Given the description of an element on the screen output the (x, y) to click on. 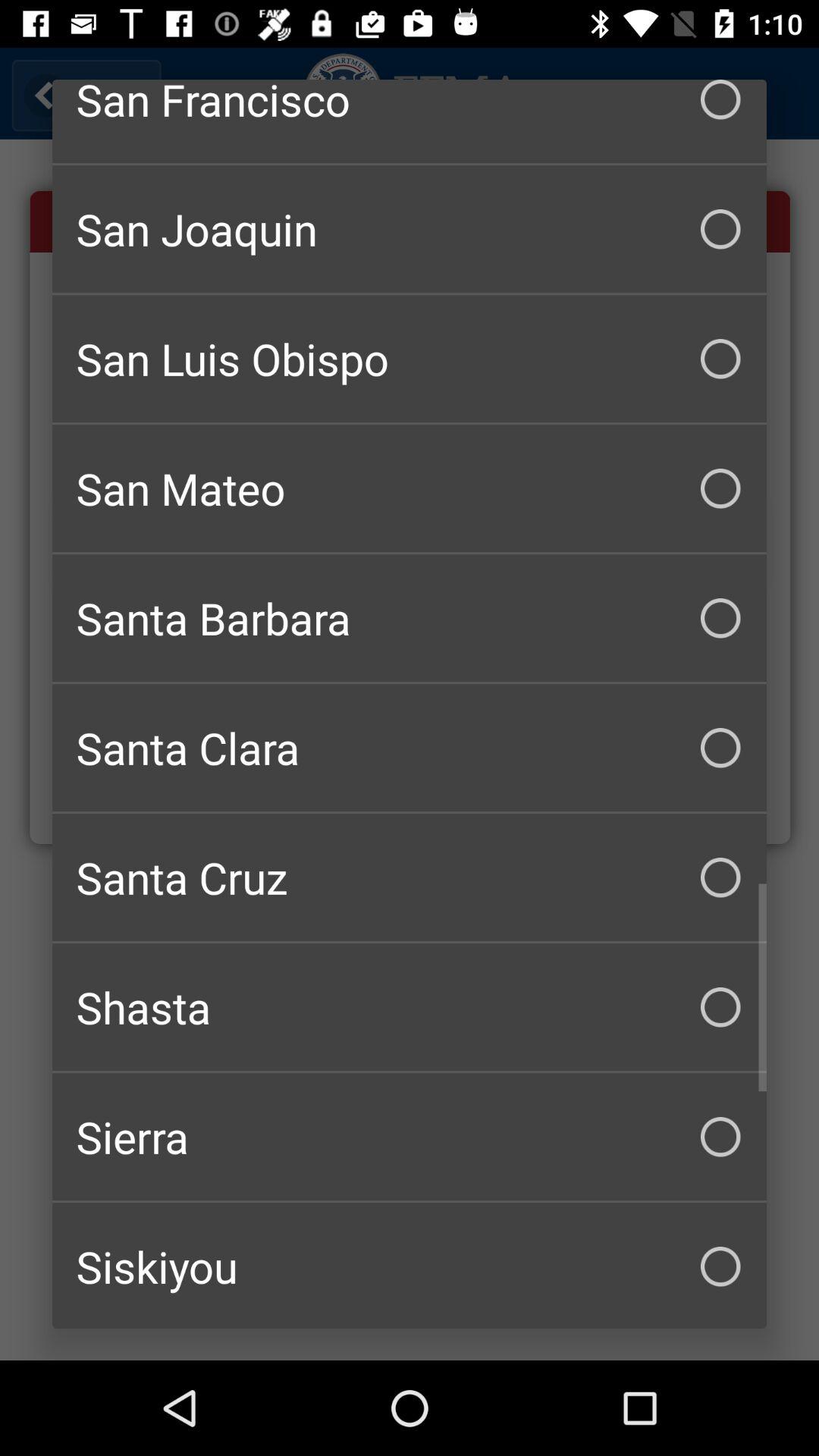
press checkbox below san joaquin item (409, 358)
